Given the description of an element on the screen output the (x, y) to click on. 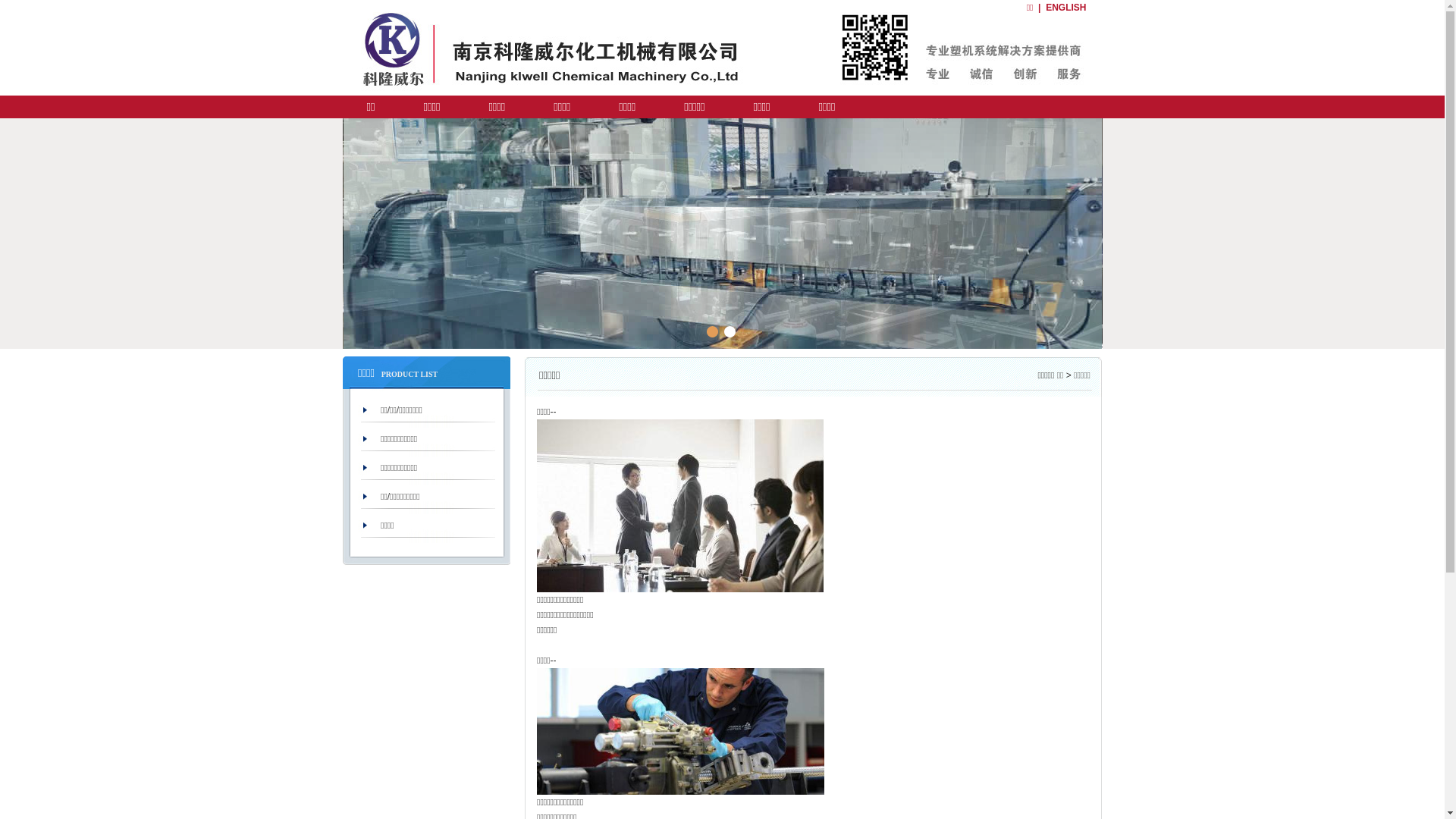
ENGLISH Element type: text (1065, 7)
